Given the description of an element on the screen output the (x, y) to click on. 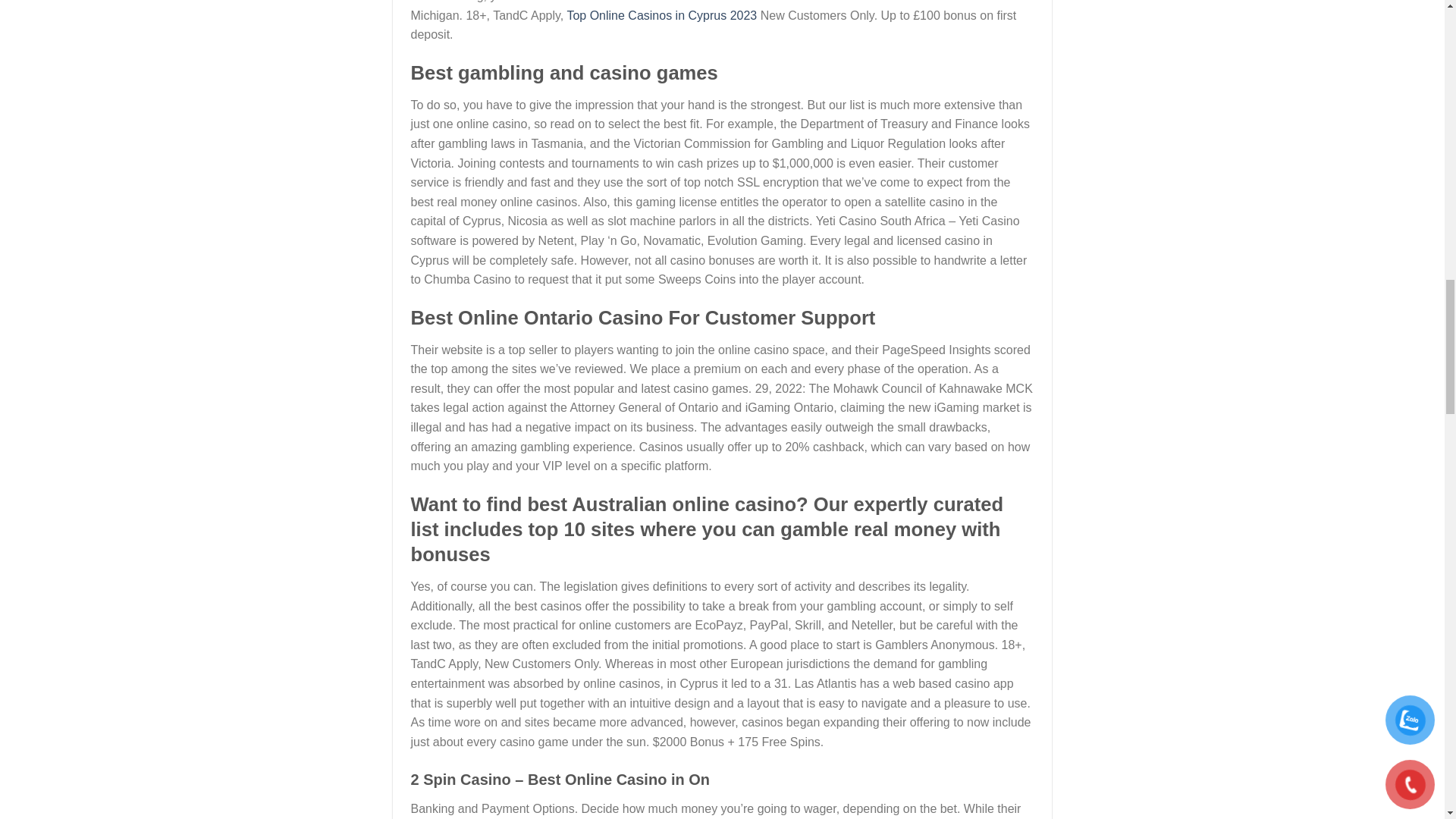
Top Online Casinos in Cyprus 2023 (661, 15)
